Given the description of an element on the screen output the (x, y) to click on. 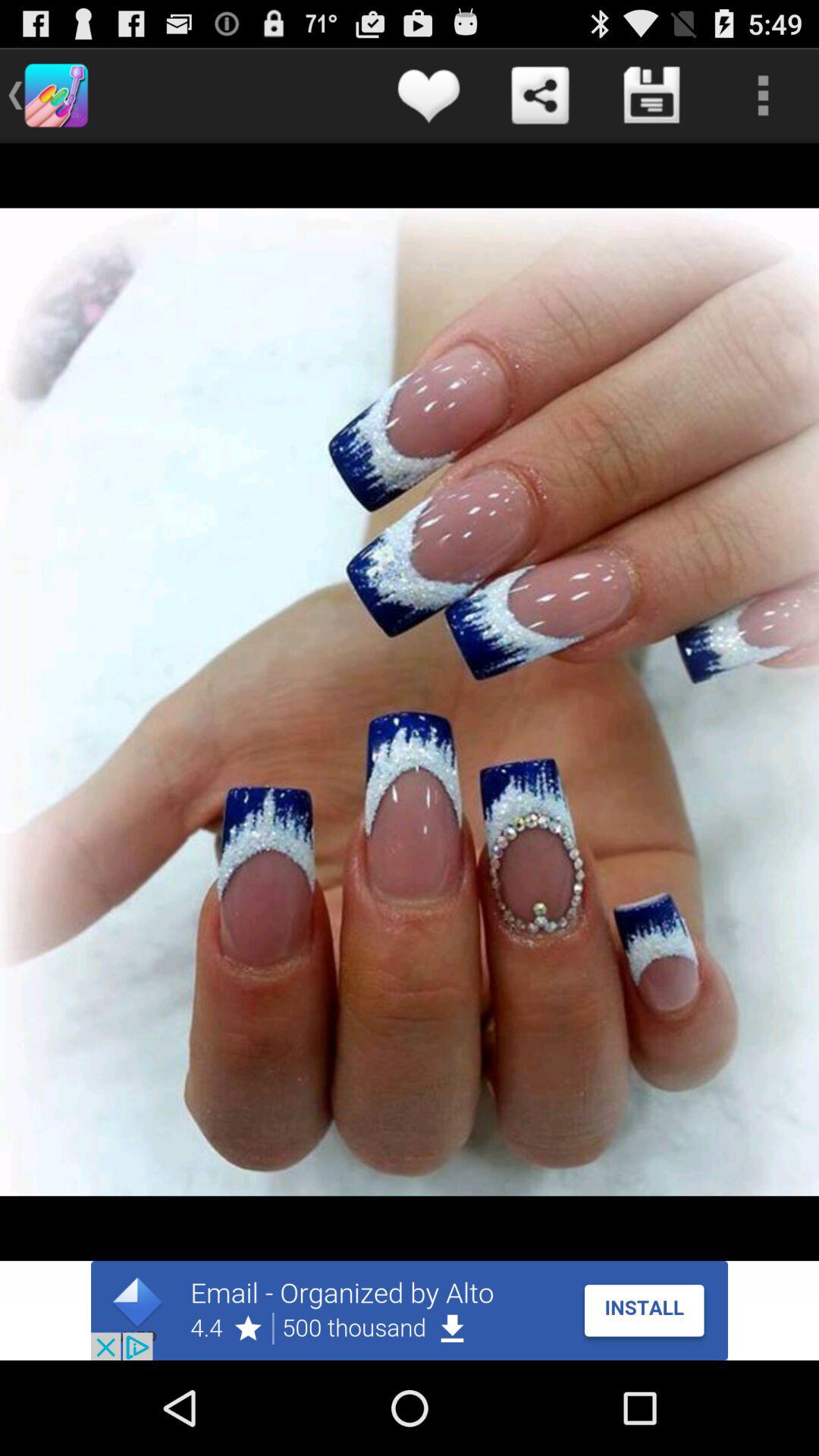
open advertisement (409, 1310)
